Given the description of an element on the screen output the (x, y) to click on. 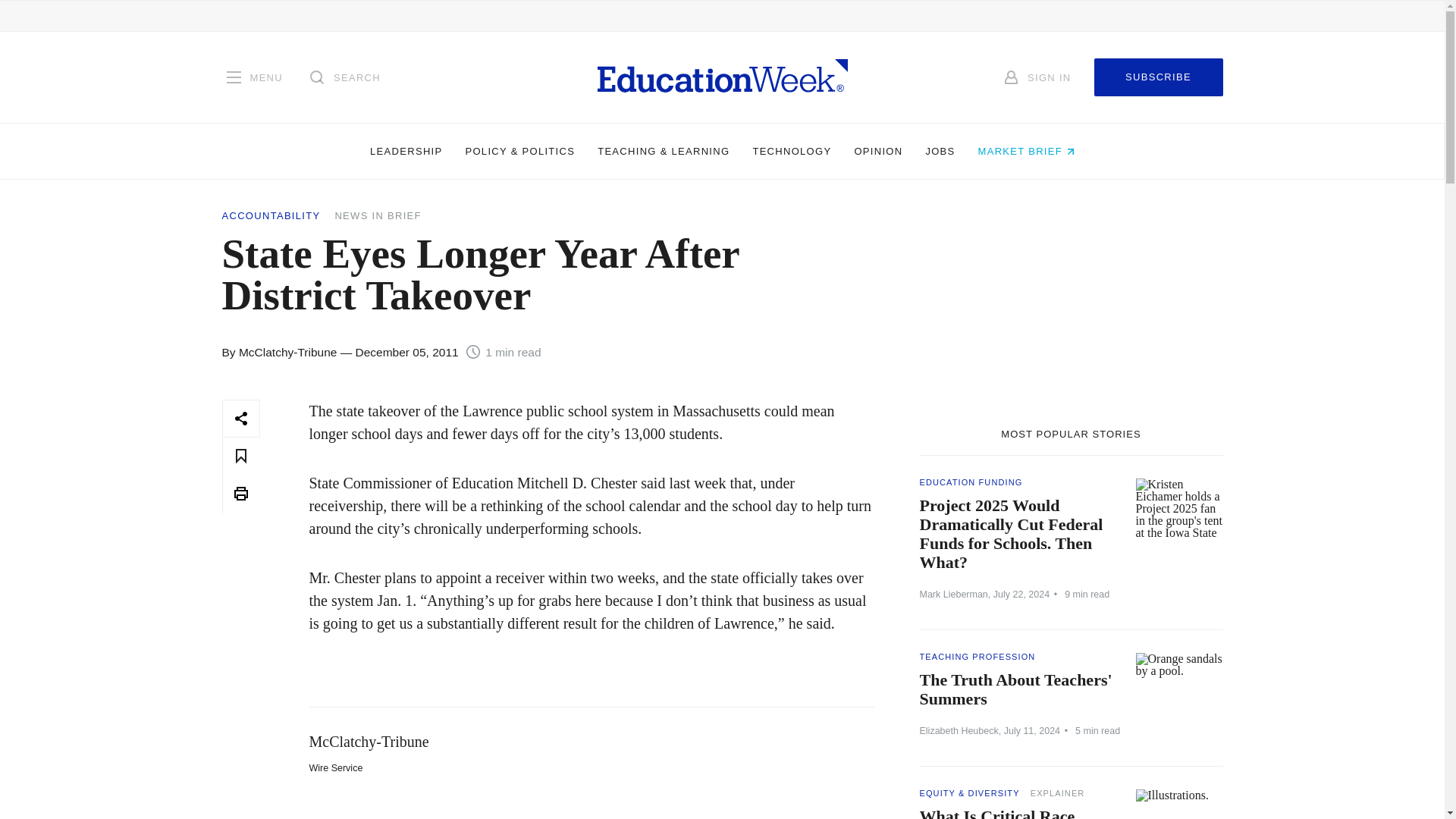
Homepage (721, 76)
